Given the description of an element on the screen output the (x, y) to click on. 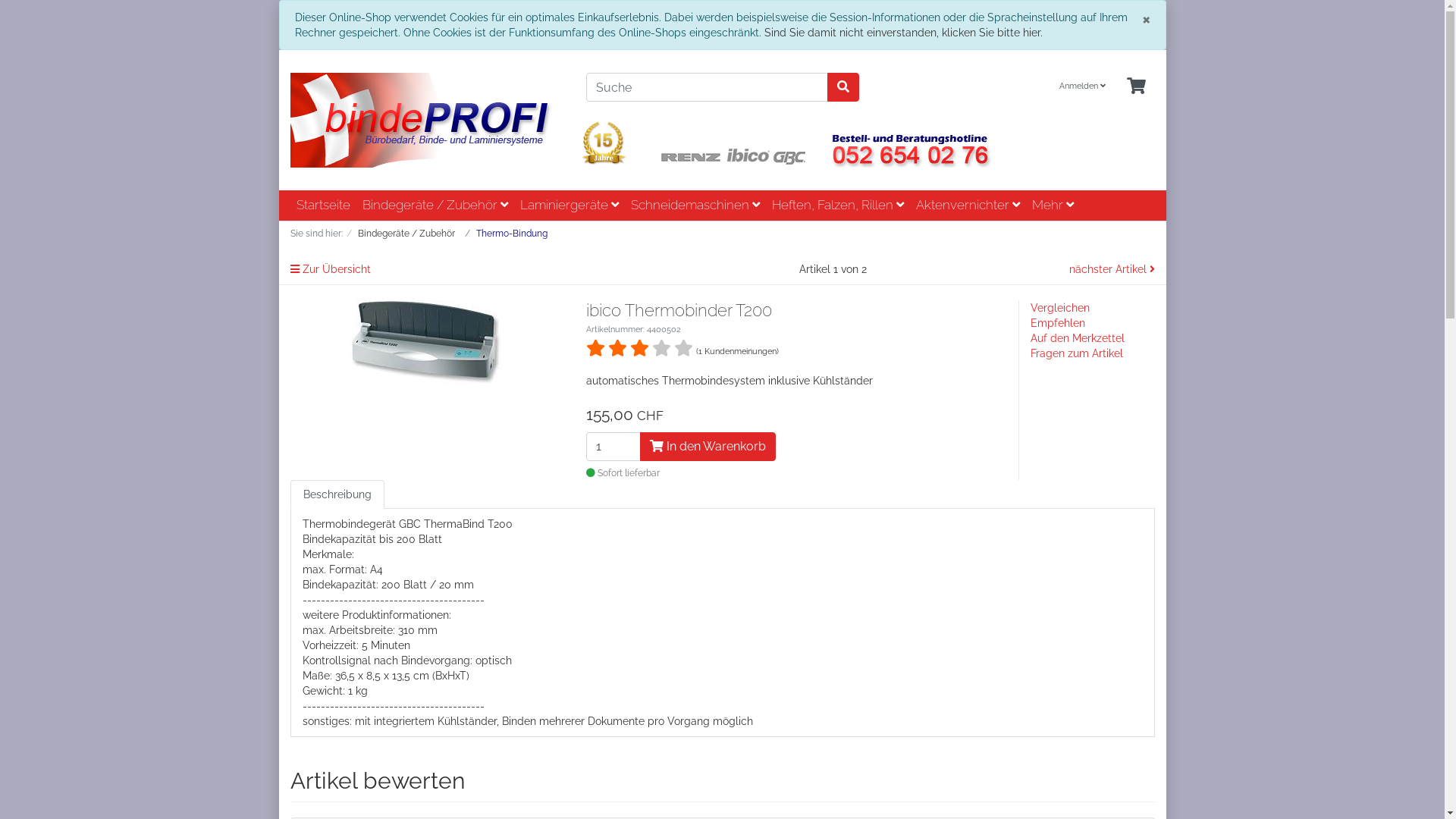
Heften, Falzen, Rillen Element type: text (837, 205)
Vergleichen Element type: text (1058, 307)
In den Warenkorb Element type: text (707, 446)
Sind Sie damit nicht einverstanden, klicken Sie bitte hier. Element type: text (903, 32)
Fragen zum Artikel Element type: text (1075, 353)
Startseite Element type: text (322, 205)
Empfehlen Element type: text (1056, 322)
Schneidemaschinen Element type: text (694, 205)
Auf den Merkzettel Element type: text (1076, 338)
Beschreibung Element type: text (336, 494)
Thermo-Bindung Element type: text (511, 233)
Mehr Element type: text (1052, 205)
Suchen Element type: hover (842, 86)
bindePROFI Element type: hover (425, 119)
Aktenvernichter Element type: text (968, 205)
(1 Kundenmeinungen) Element type: text (737, 350)
Anmelden Element type: text (1081, 86)
